Given the description of an element on the screen output the (x, y) to click on. 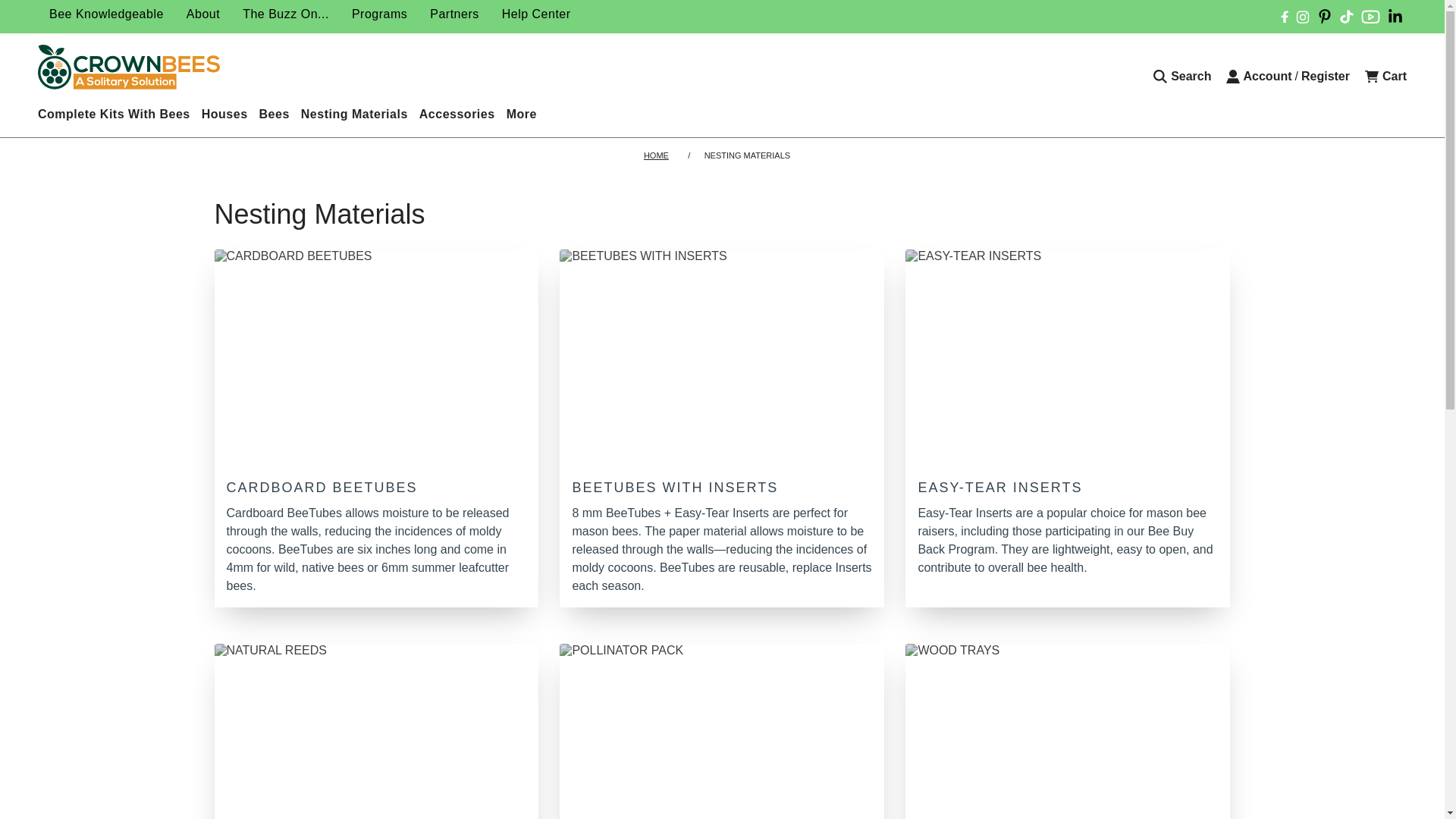
Back to the frontpage (658, 155)
Bee Knowledgeable (105, 14)
Programs (379, 14)
Log in (1258, 76)
Partners (454, 14)
Help Center (536, 14)
About (202, 14)
The Buzz On... (285, 14)
